Given the description of an element on the screen output the (x, y) to click on. 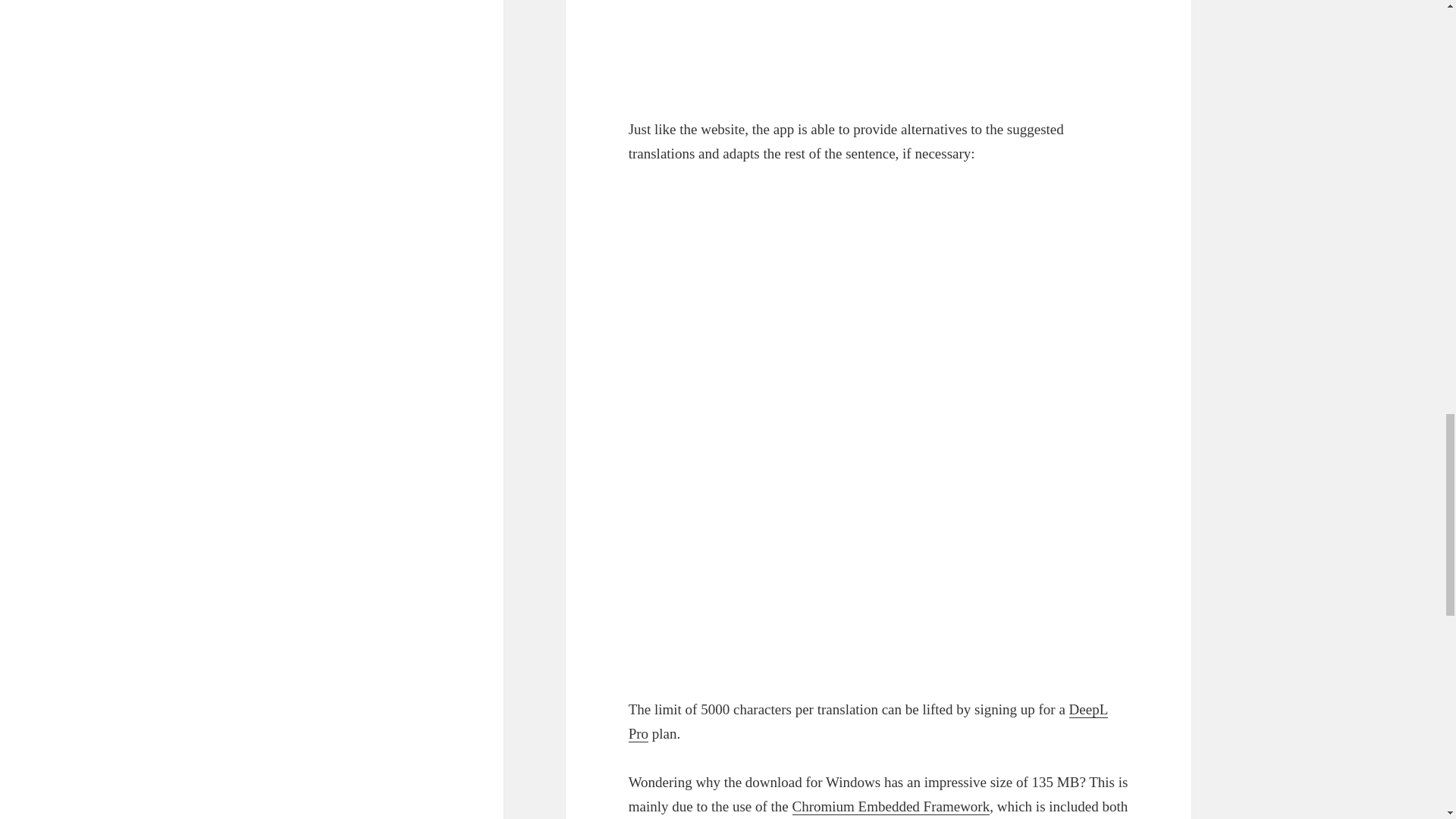
Chromium Embedded Framework (891, 806)
DeepL Pro (868, 721)
